Given the description of an element on the screen output the (x, y) to click on. 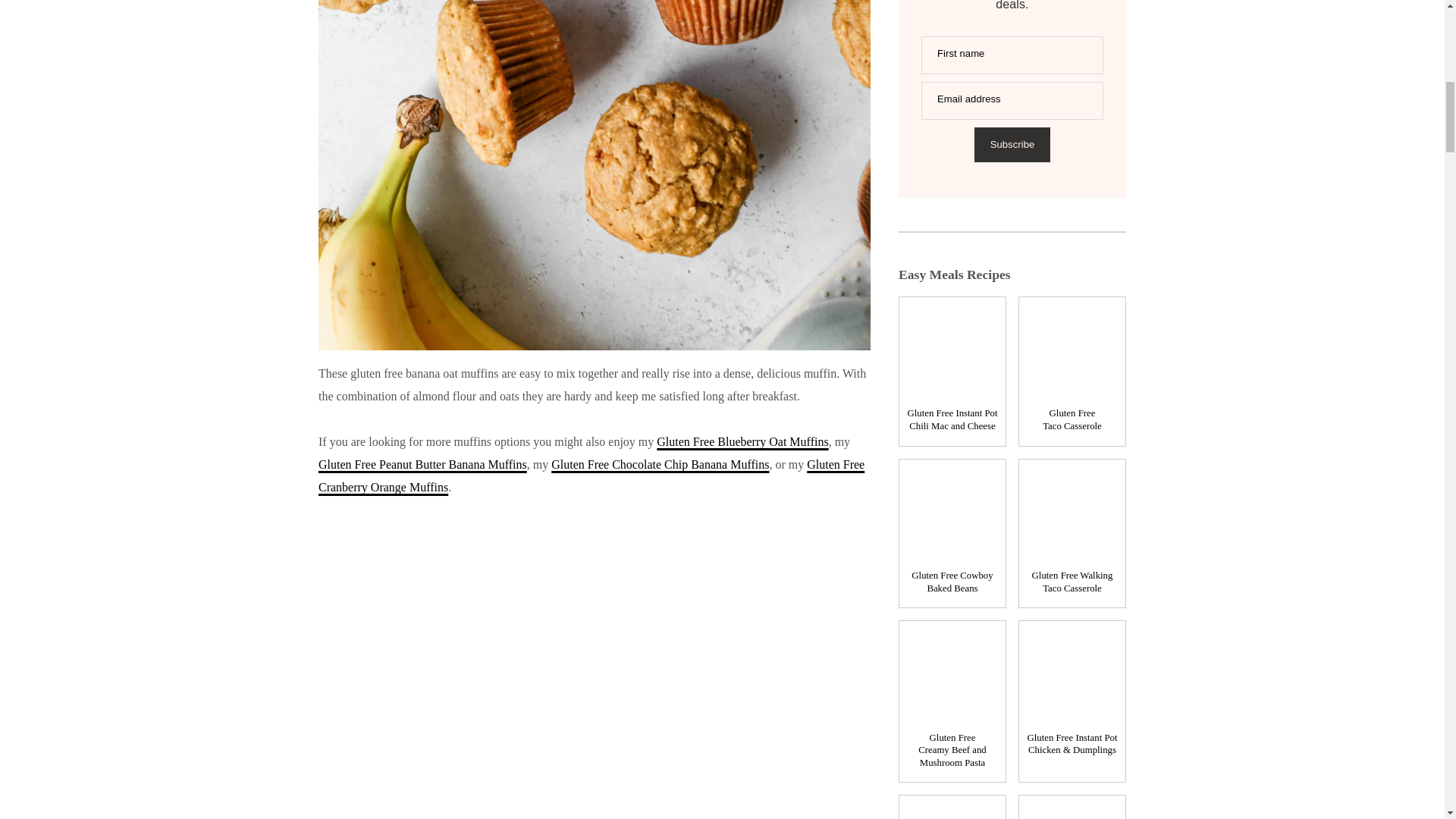
Gluten Free Blueberry Oat Muffins (742, 440)
Gluten Free Peanut Butter Banana Muffins (422, 463)
Gluten Free Chocolate Chip Banana Muffins (659, 463)
